Given the description of an element on the screen output the (x, y) to click on. 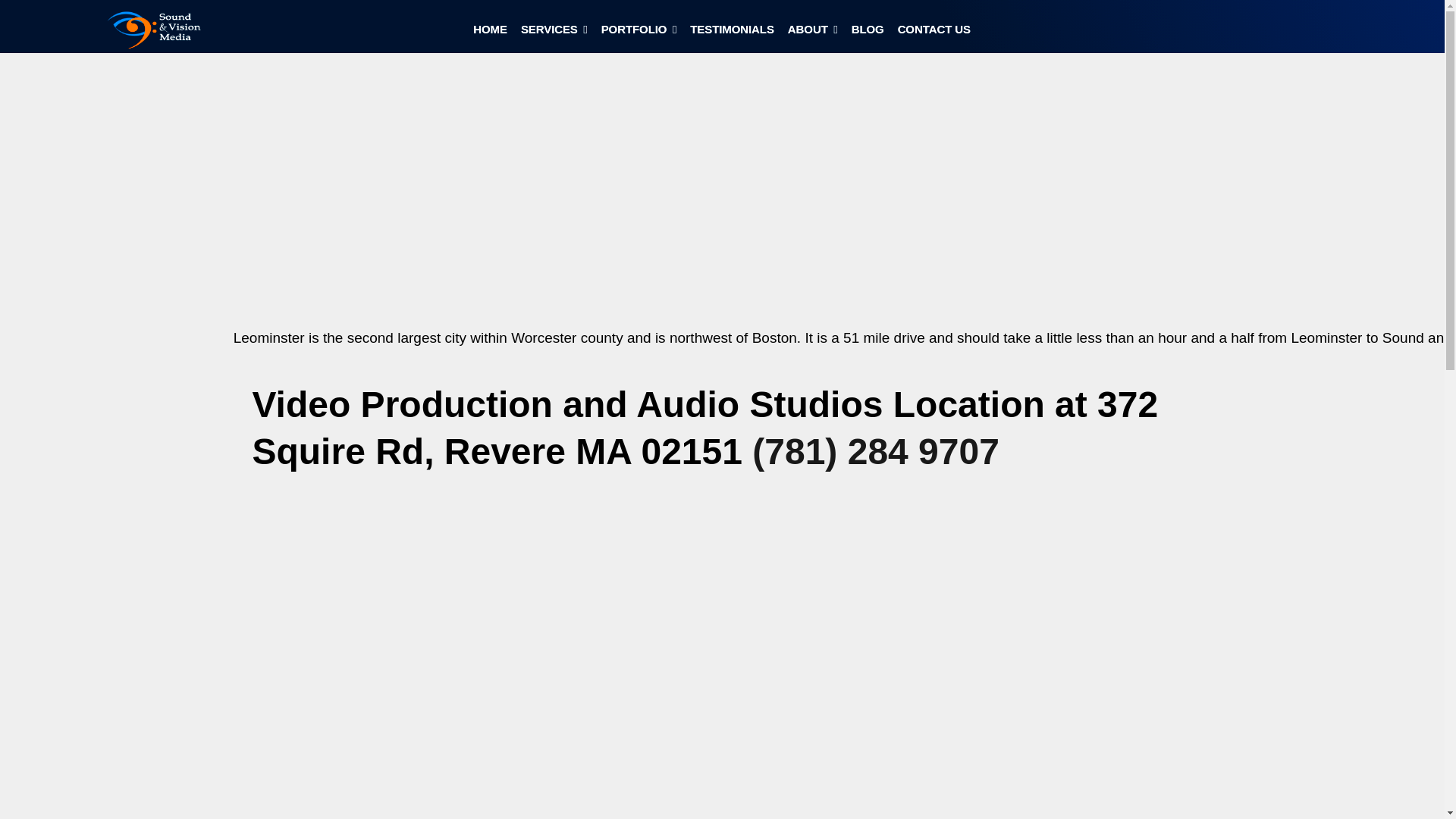
CONTACT US (934, 33)
Video Production Leominster, Ma (159, 30)
PORTFOLIO (639, 33)
ABOUT (812, 33)
BLOG (867, 33)
TESTIMONIALS (732, 33)
HOME (489, 33)
SERVICES (554, 33)
